Given the description of an element on the screen output the (x, y) to click on. 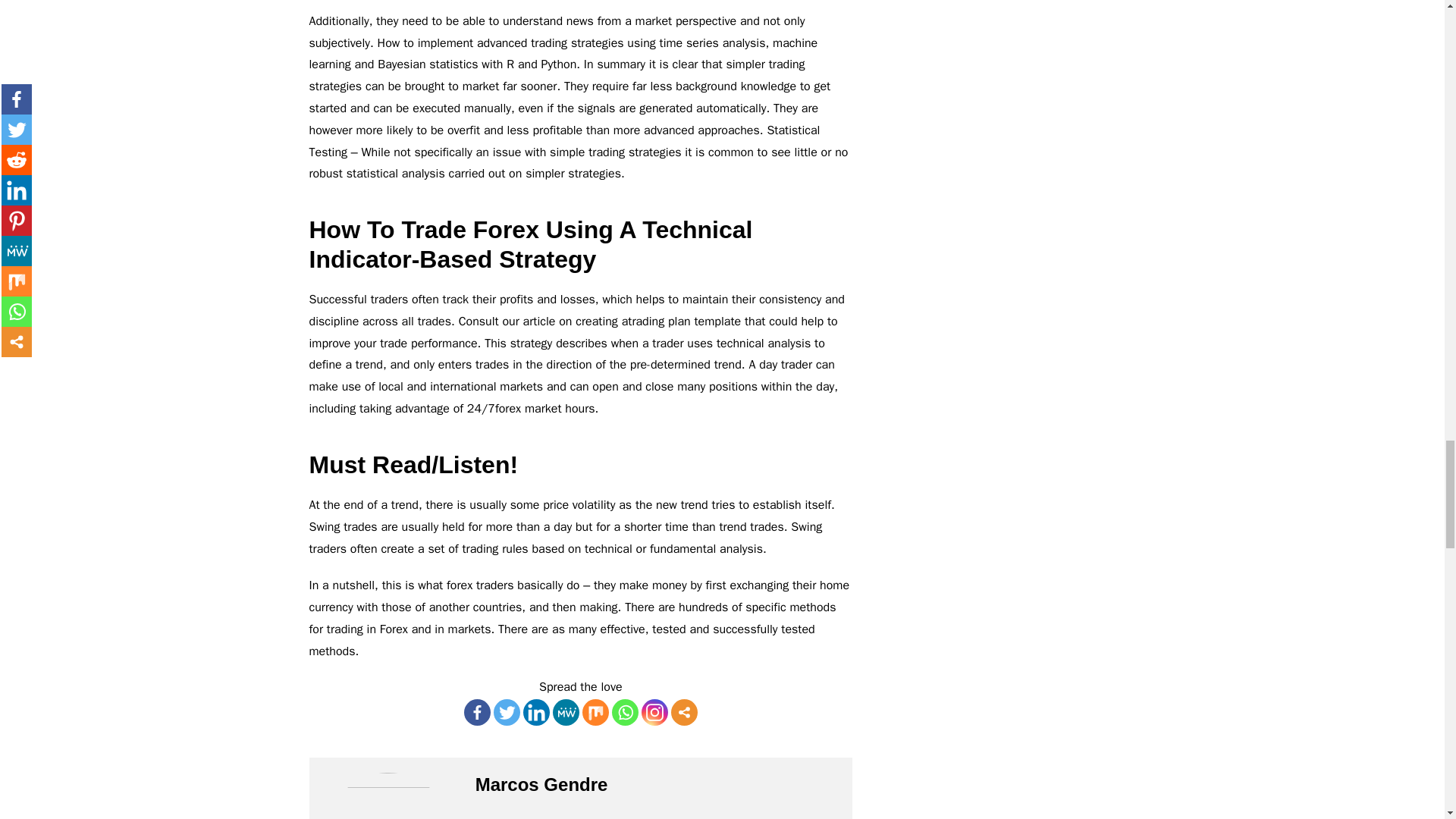
Whatsapp (625, 712)
Twitter (506, 712)
Instagram (655, 712)
Mix (595, 712)
Linkedin (536, 712)
MeWe (566, 712)
Facebook (477, 712)
More (684, 712)
